Given the description of an element on the screen output the (x, y) to click on. 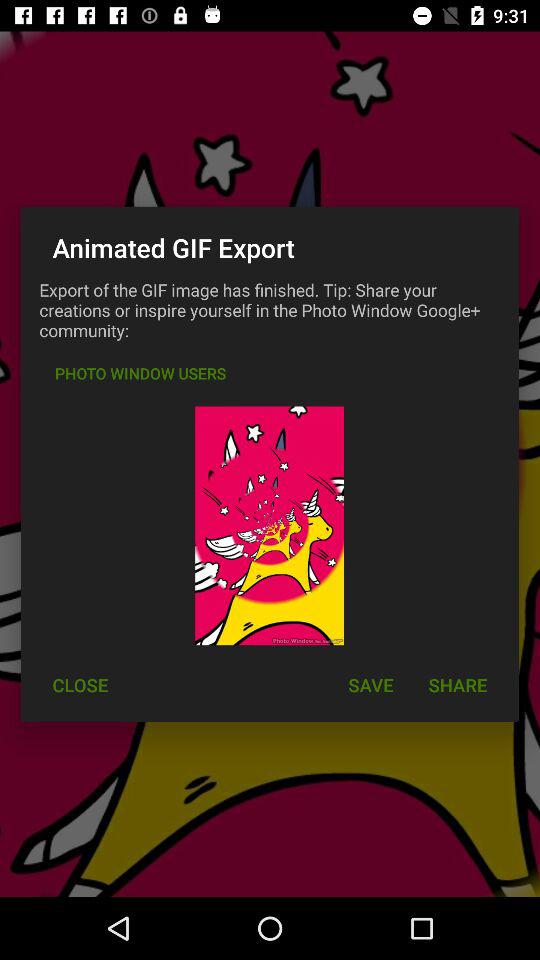
turn on save item (370, 684)
